Given the description of an element on the screen output the (x, y) to click on. 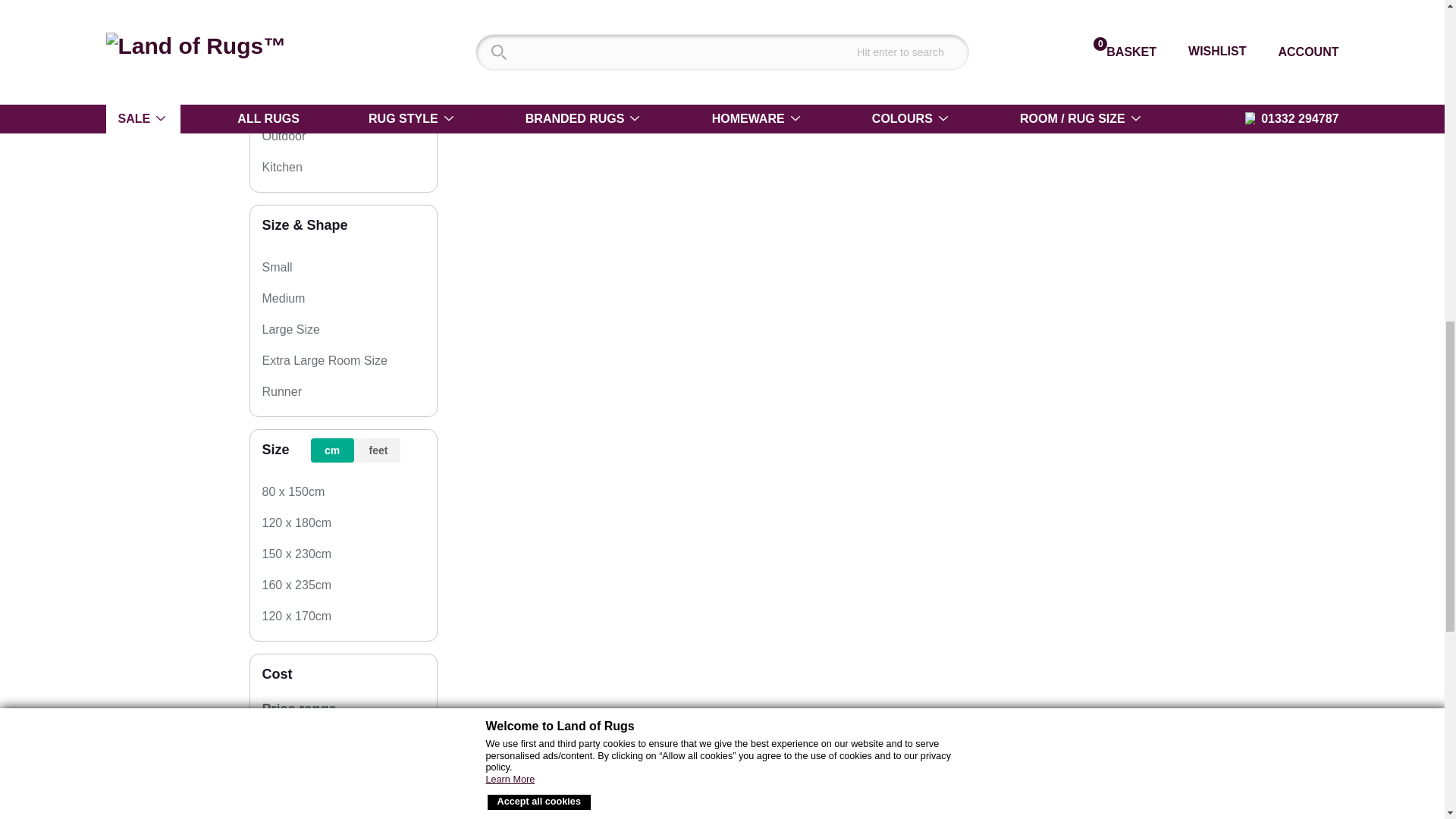
435 (386, 739)
19 (298, 739)
